Given the description of an element on the screen output the (x, y) to click on. 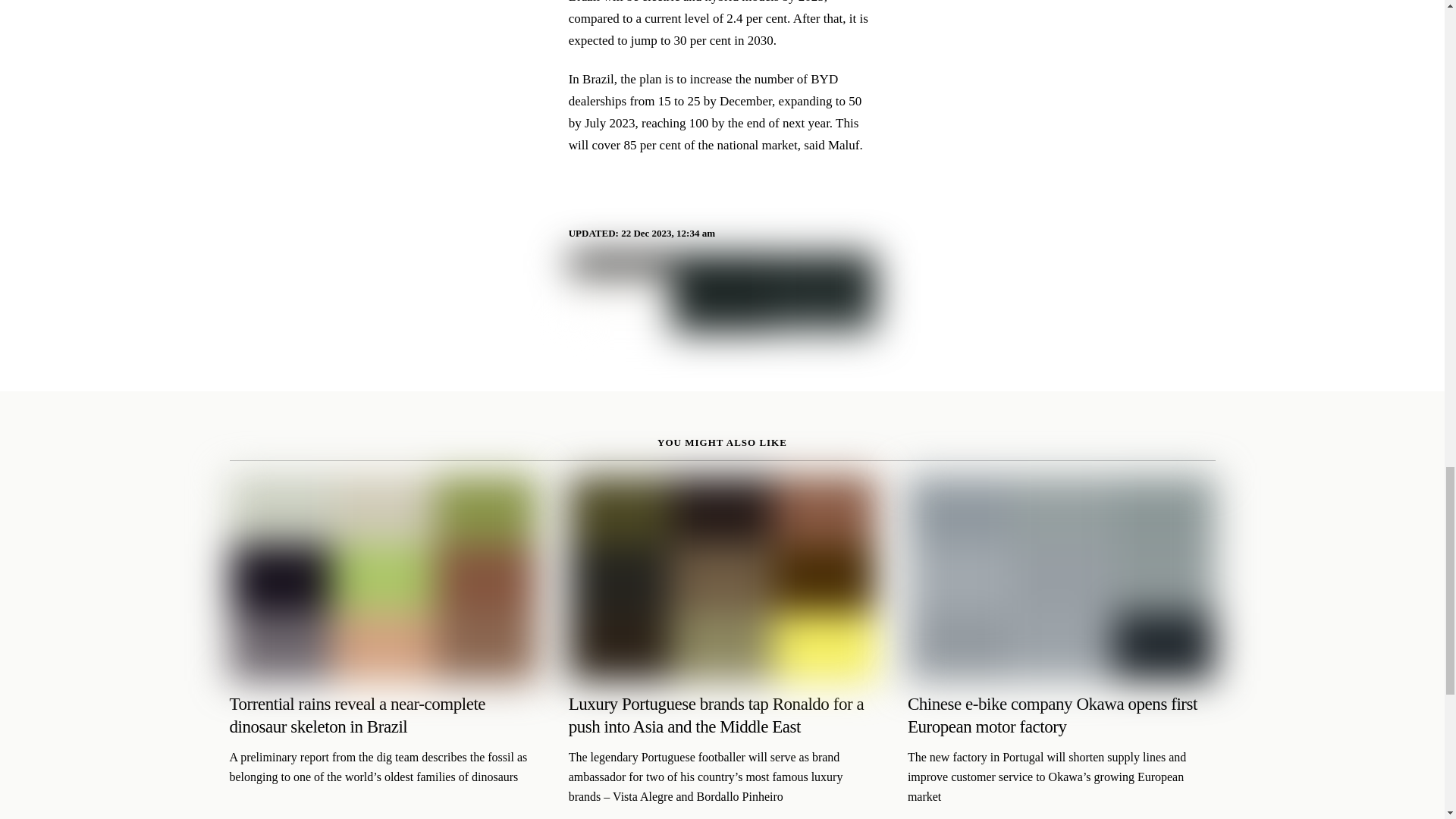
the tea Banner desktop (722, 293)
